Given the description of an element on the screen output the (x, y) to click on. 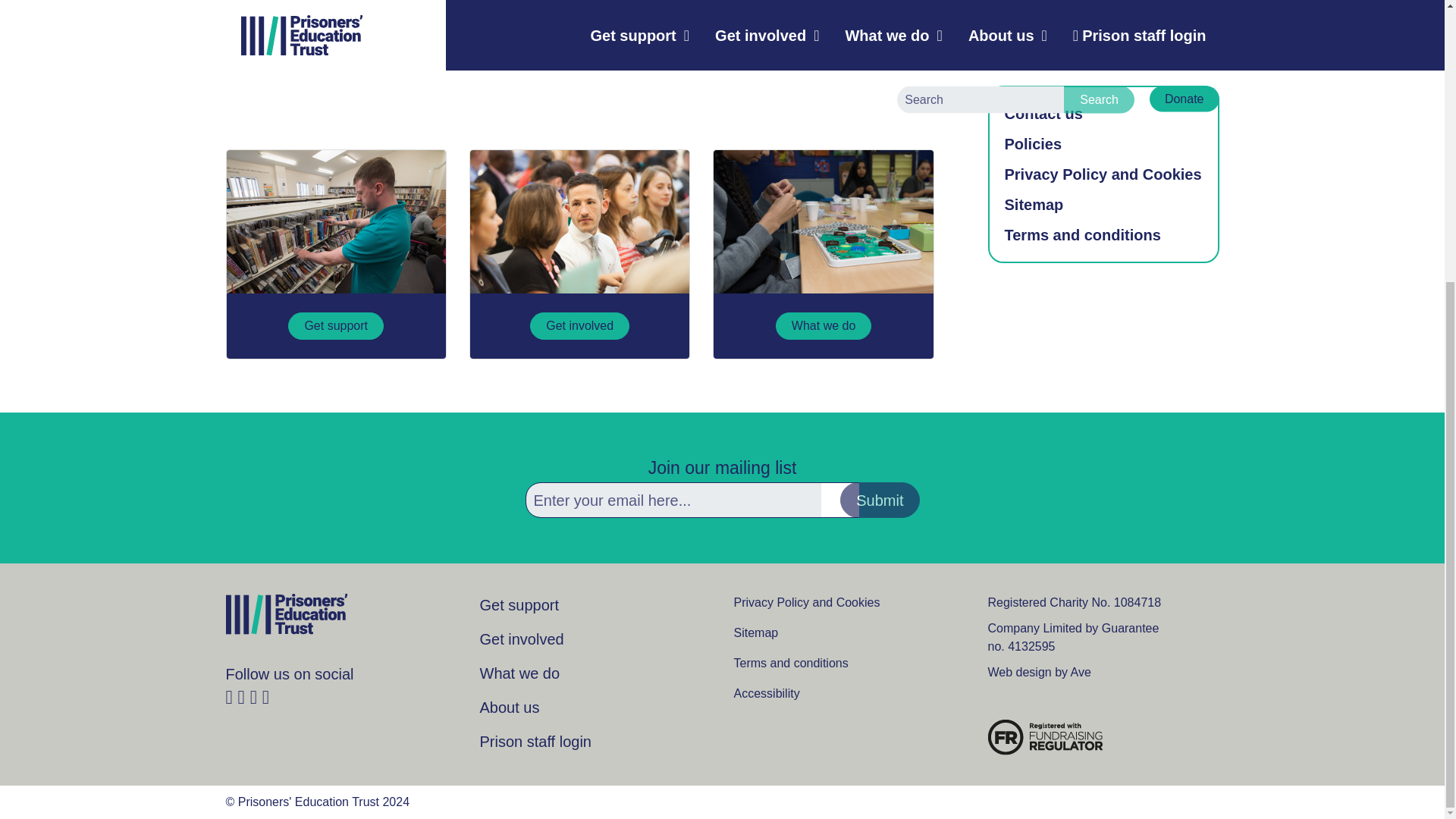
What we do (823, 221)
Get support (336, 325)
Submit (879, 499)
Get support (335, 221)
Get involved (579, 221)
Get involved (578, 325)
What we do (823, 325)
